Given the description of an element on the screen output the (x, y) to click on. 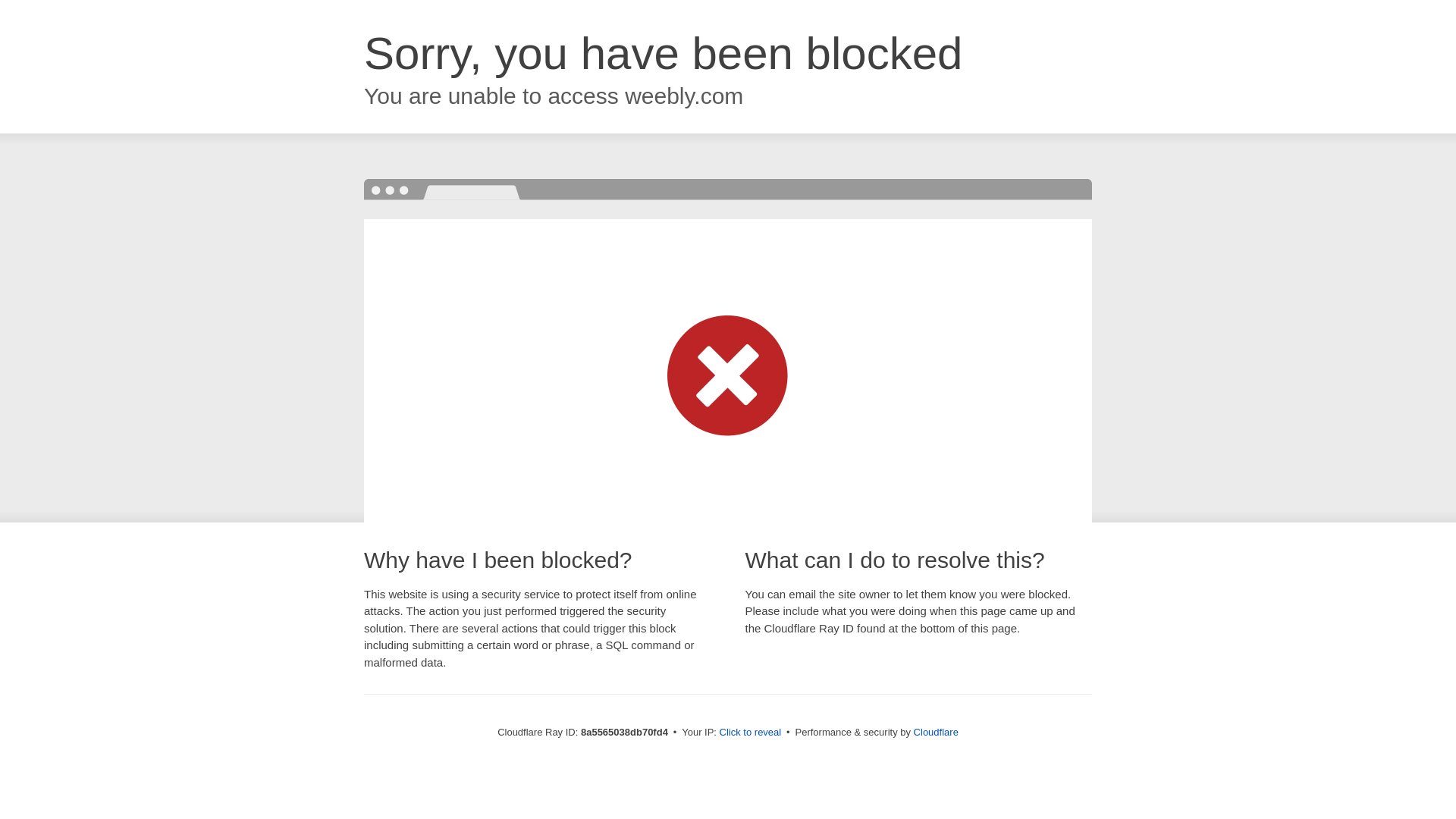
Click to reveal (750, 732)
Cloudflare (936, 731)
